Given the description of an element on the screen output the (x, y) to click on. 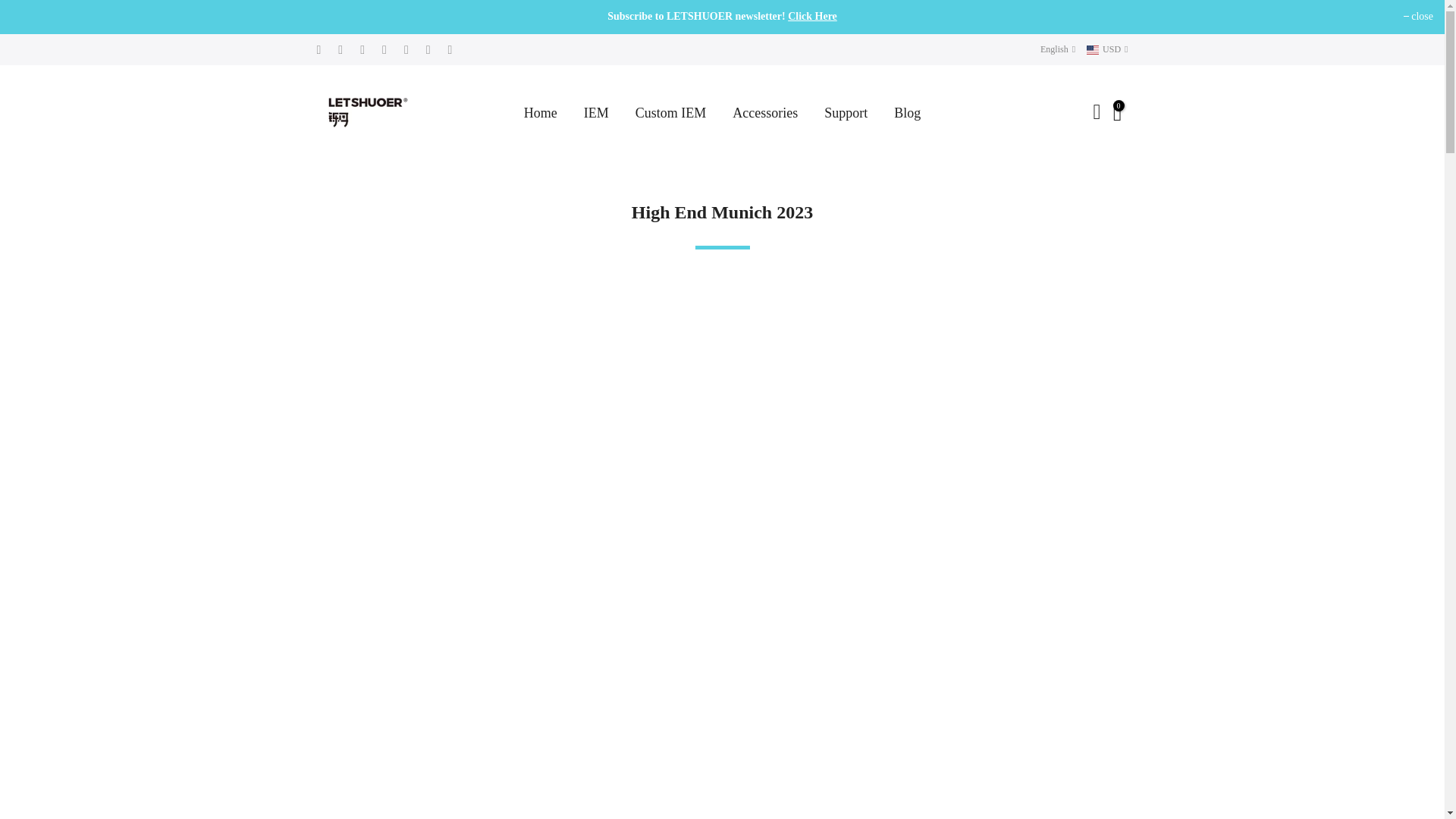
Custom IEM (670, 113)
Home (540, 113)
Support (845, 113)
Click Here (812, 16)
Accessories (764, 113)
close (1417, 16)
Blog (907, 113)
